Given the description of an element on the screen output the (x, y) to click on. 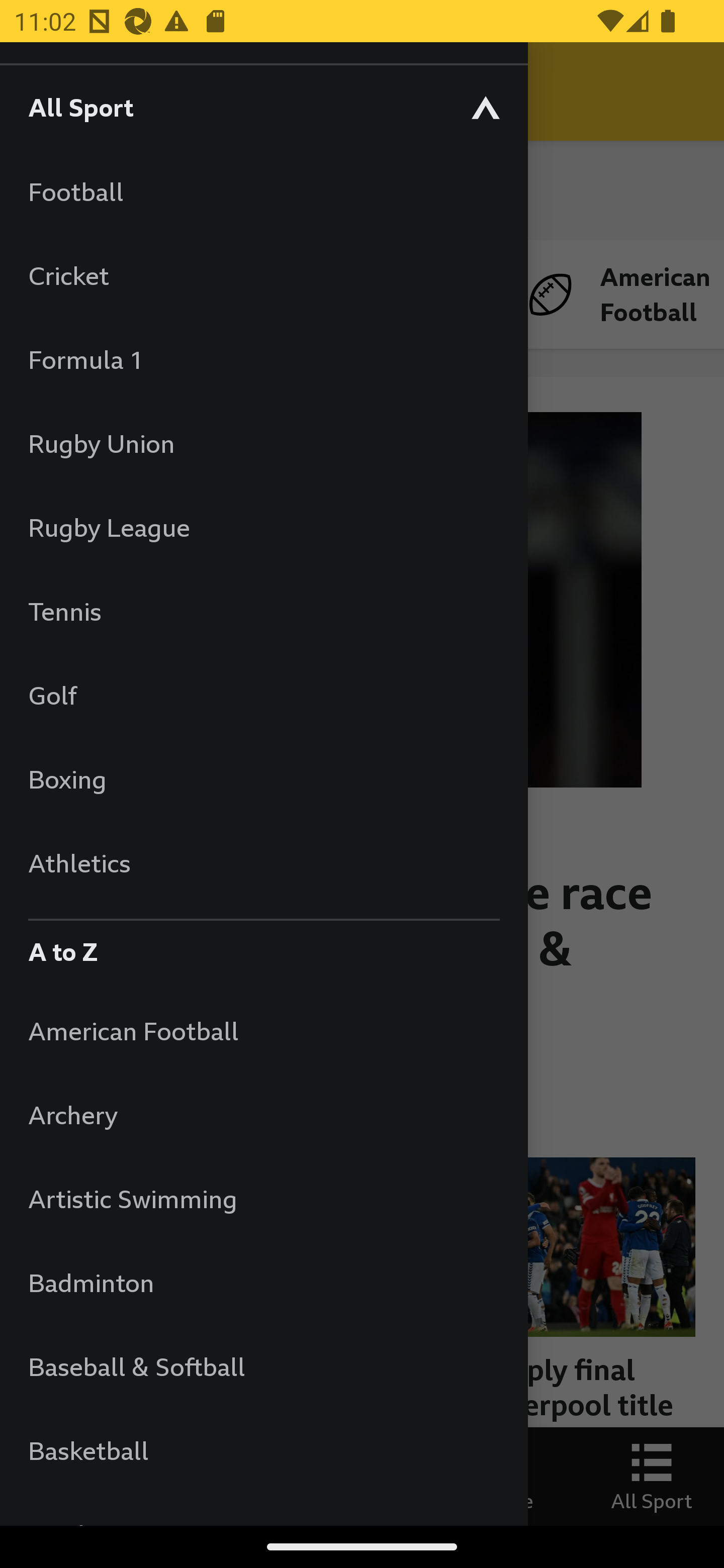
All Sport (263, 106)
Football (263, 190)
Cricket (263, 275)
Formula 1 (263, 358)
Rugby Union (263, 443)
Rugby League (263, 526)
Tennis (263, 611)
Golf (263, 694)
Boxing (263, 778)
Athletics (263, 862)
A to Z (263, 946)
American Football (263, 1029)
Archery (263, 1114)
Artistic Swimming (263, 1198)
Badminton (263, 1282)
Baseball & Softball (263, 1366)
Basketball (263, 1450)
